Given the description of an element on the screen output the (x, y) to click on. 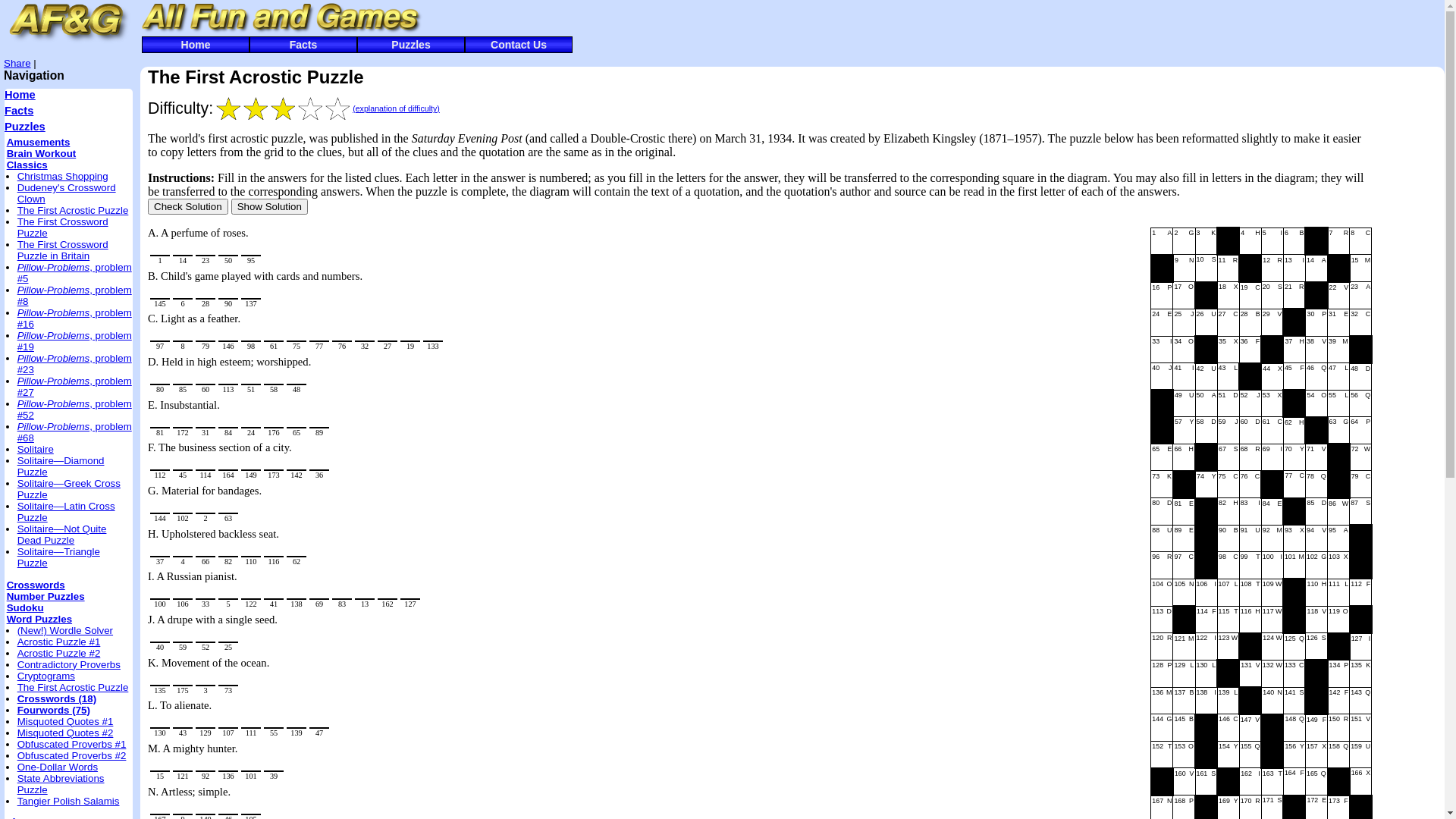
139
L Element type: text (1228, 700)
Facts Element type: text (303, 44)
89
E Element type: text (1184, 538)
122
I Element type: text (1206, 645)
7
R Element type: text (1338, 240)
45
F Element type: text (1294, 375)
(New!) Wordle Solver Element type: text (64, 630)
160
V Element type: text (1184, 780)
Solitaire Element type: text (35, 449)
63
G Element type: text (1338, 430)
Misquoted Quotes #2 Element type: text (65, 731)
52
J Element type: text (1250, 403)
161
S Element type: text (1206, 780)
115
T Element type: text (1228, 619)
18
X Element type: text (1228, 295)
74
Y Element type: text (1206, 483)
Contradictory Proverbs Element type: text (68, 663)
53
X Element type: text (1272, 403)
26
U Element type: text (1206, 321)
136
M Element type: text (1162, 700)
141
S Element type: text (1294, 700)
70
Y Element type: text (1294, 456)
67
S Element type: text (1228, 456)
61
C Element type: text (1272, 430)
143
Q Element type: text (1360, 700)
108
T Element type: text (1250, 591)
11
R Element type: text (1228, 268)
Pillow-Problems, problem #68 Element type: text (74, 431)
94
V Element type: text (1316, 538)
51
D Element type: text (1228, 403)
88
U Element type: text (1162, 538)
129
L Element type: text (1184, 673)
Crosswords (18) Element type: text (56, 698)
Share Element type: text (17, 63)
147
V Element type: text (1250, 727)
105
N Element type: text (1184, 591)
114
F Element type: text (1206, 619)
93
X Element type: text (1294, 538)
14
A Element type: text (1316, 268)
43
L Element type: text (1228, 375)
Obfuscated Proverbs #1 Element type: text (71, 743)
76
C Element type: text (1250, 483)
41
I Element type: text (1184, 375)
4
H Element type: text (1250, 240)
73
K Element type: text (1162, 483)
The First Acrostic Puzzle Element type: text (72, 686)
142
F Element type: text (1338, 700)
155
Q Element type: text (1250, 754)
150
R Element type: text (1338, 727)
137
B Element type: text (1184, 700)
166
X Element type: text (1360, 780)
156
Y Element type: text (1294, 754)
36
F Element type: text (1250, 349)
15
M Element type: text (1360, 268)
125
Q Element type: text (1294, 645)
Puzzles Element type: text (410, 44)
23
A Element type: text (1360, 295)
6
B Element type: text (1294, 240)
81
E Element type: text (1184, 510)
101
M Element type: text (1294, 565)
124
W Element type: text (1272, 645)
22
V Element type: text (1338, 295)
Pillow-Problems, problem #8 Element type: text (74, 295)
98
C Element type: text (1228, 565)
75
C Element type: text (1228, 483)
The First Crossword Puzzle in Britain Element type: text (62, 249)
State Abbreviations Puzzle Element type: text (60, 782)
Pillow-Problems, problem #5 Element type: text (74, 272)
134
P Element type: text (1338, 673)
102
G Element type: text (1316, 565)
Show Solution Element type: text (269, 206)
Crosswords Element type: text (35, 584)
159
U Element type: text (1360, 754)
44
X Element type: text (1272, 375)
50
A Element type: text (1206, 403)
8
C Element type: text (1360, 240)
59
J Element type: text (1228, 430)
19
C Element type: text (1250, 295)
Obfuscated Proverbs #2 Element type: text (71, 754)
84
E Element type: text (1272, 510)
The First Crossword Puzzle Element type: text (62, 227)
151
V Element type: text (1360, 727)
Brain Workout Element type: text (41, 153)
79
C Element type: text (1360, 483)
All Fun and Games Element type: hover (278, 18)
145
B Element type: text (1184, 727)
154
Y Element type: text (1228, 754)
Fourwords (75) Element type: text (53, 709)
66
H Element type: text (1184, 456)
109
W Element type: text (1272, 591)
107
L Element type: text (1228, 591)
95
A Element type: text (1338, 538)
117
W Element type: text (1272, 619)
Acrostic Puzzle #2 Element type: text (58, 652)
77
C Element type: text (1294, 483)
64
P Element type: text (1360, 430)
68
R Element type: text (1250, 456)
47
L Element type: text (1338, 375)
97
C Element type: text (1184, 565)
Number Puzzles Element type: text (45, 595)
138
I Element type: text (1206, 700)
86
W Element type: text (1338, 510)
133
C Element type: text (1294, 673)
16
P Element type: text (1162, 295)
103
X Element type: text (1338, 565)
132
W Element type: text (1272, 673)
99
T Element type: text (1250, 565)
135
K Element type: text (1360, 673)
149
F Element type: text (1316, 727)
111
L Element type: text (1338, 591)
126
S Element type: text (1316, 645)
1
A Element type: text (1162, 240)
Pillow-Problems, problem #16 Element type: text (74, 318)
17
O Element type: text (1184, 295)
131
V Element type: text (1250, 673)
144
G Element type: text (1162, 727)
25
J Element type: text (1184, 321)
120
R Element type: text (1162, 645)
146
C Element type: text (1228, 727)
80
D Element type: text (1162, 510)
9
N Element type: text (1184, 268)
96
R Element type: text (1162, 565)
31
E Element type: text (1338, 321)
165
Q Element type: text (1316, 780)
Contact Us Element type: text (518, 44)
Pillow-Problems, problem #27 Element type: text (74, 386)
Facts Element type: text (18, 110)
24
E Element type: text (1162, 321)
91
U Element type: text (1250, 538)
35
X Element type: text (1228, 349)
112
F Element type: text (1360, 591)
164
F Element type: text (1294, 780)
3
K Element type: text (1206, 240)
30
P Element type: text (1316, 321)
32
C Element type: text (1360, 321)
62
H Element type: text (1294, 430)
Acrostic Puzzle #1 Element type: text (58, 640)
83
I Element type: text (1250, 510)
158
Q Element type: text (1338, 754)
The First Acrostic Puzzle Element type: text (72, 210)
48
D Element type: text (1360, 375)
57
Y Element type: text (1184, 430)
20
S Element type: text (1272, 295)
90
B Element type: text (1228, 538)
162
I Element type: text (1250, 780)
49
U Element type: text (1184, 403)
157
X Element type: text (1316, 754)
10
S Element type: text (1206, 268)
128
P Element type: text (1162, 673)
Pillow-Problems, problem #23 Element type: text (74, 363)
Christmas Shopping Element type: text (62, 176)
39
M Element type: text (1338, 349)
38
V Element type: text (1316, 349)
127
I Element type: text (1360, 645)
5
I Element type: text (1272, 240)
Classics Element type: text (26, 164)
148
Q Element type: text (1294, 727)
69
I Element type: text (1272, 456)
27
C Element type: text (1228, 321)
65
E Element type: text (1162, 456)
58
D Element type: text (1206, 430)
Pillow-Problems, problem #19 Element type: text (74, 340)
113
D Element type: text (1162, 619)
87
S Element type: text (1360, 510)
33
I Element type: text (1162, 349)
Sudoku Element type: text (24, 607)
85
D Element type: text (1316, 510)
Amusements Element type: text (38, 141)
116
H Element type: text (1250, 619)
29
V Element type: text (1272, 321)
78
Q Element type: text (1316, 483)
119
O Element type: text (1338, 619)
Puzzles Element type: text (24, 126)
56
Q Element type: text (1360, 403)
One-Dollar Words Element type: text (57, 766)
104
O Element type: text (1162, 591)
55
L Element type: text (1338, 403)
140
N Element type: text (1272, 700)
72
W Element type: text (1360, 456)
163
T Element type: text (1272, 780)
28
B Element type: text (1250, 321)
Home Element type: text (195, 44)
60
D Element type: text (1250, 430)
2
G Element type: text (1184, 240)
21
R Element type: text (1294, 295)
Word Puzzles Element type: text (39, 618)
Pillow-Problems, problem #52 Element type: text (74, 409)
106
I Element type: text (1206, 591)
121
M Element type: text (1184, 645)
123
W Element type: text (1228, 645)
Tangier Polish Salamis Element type: text (68, 800)
Cryptograms Element type: text (46, 675)
13
I Element type: text (1294, 268)
71
V Element type: text (1316, 456)
Misquoted Quotes #1 Element type: text (65, 721)
12
R Element type: text (1272, 268)
42
U Element type: text (1206, 375)
100
I Element type: text (1272, 565)
Home Element type: text (19, 94)
153
O Element type: text (1184, 754)
82
H Element type: text (1228, 510)
Dudeney's Crossword Clown Element type: text (66, 193)
110
H Element type: text (1316, 591)
118
V Element type: text (1316, 619)
92
M Element type: text (1272, 538)
37
H Element type: text (1294, 349)
40
J Element type: text (1162, 375)
34
O Element type: text (1184, 349)
152
T Element type: text (1162, 754)
54
O Element type: text (1316, 403)
(explanation of difficulty) Element type: text (395, 107)
46
Q Element type: text (1316, 375)
130
L Element type: text (1206, 673)
Check Solution Element type: text (187, 206)
